Given the description of an element on the screen output the (x, y) to click on. 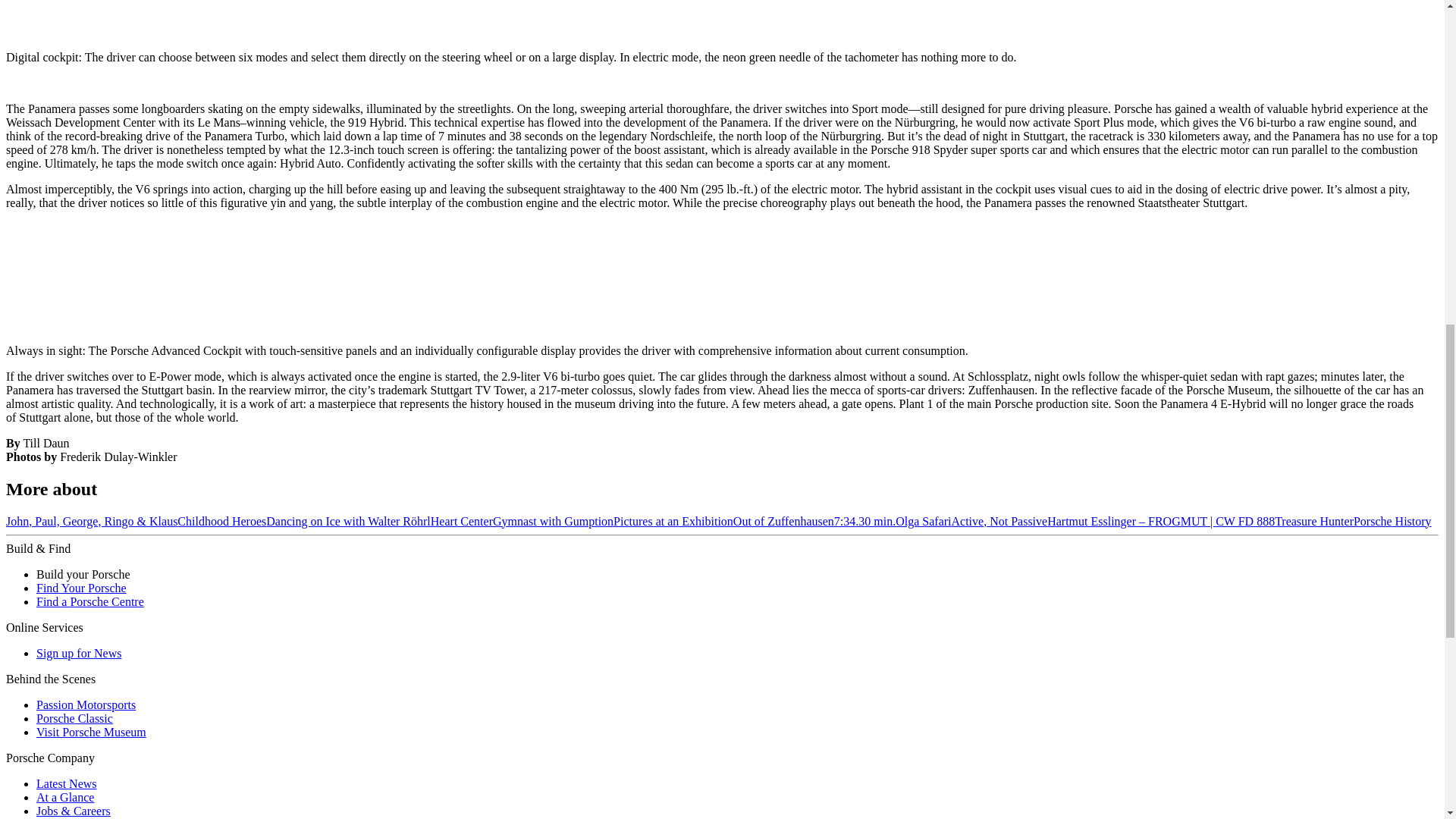
Sign up for News (78, 653)
Find a Porsche Centre (90, 601)
Pictures at an Exhibition (672, 521)
At a Glance (65, 797)
Visit Porsche Museum (91, 731)
Passion Motorsports (85, 704)
Treasure Hunter (1314, 521)
Olga Safari (922, 521)
Childhood Heroes (221, 521)
Porsche History (1392, 521)
